Given the description of an element on the screen output the (x, y) to click on. 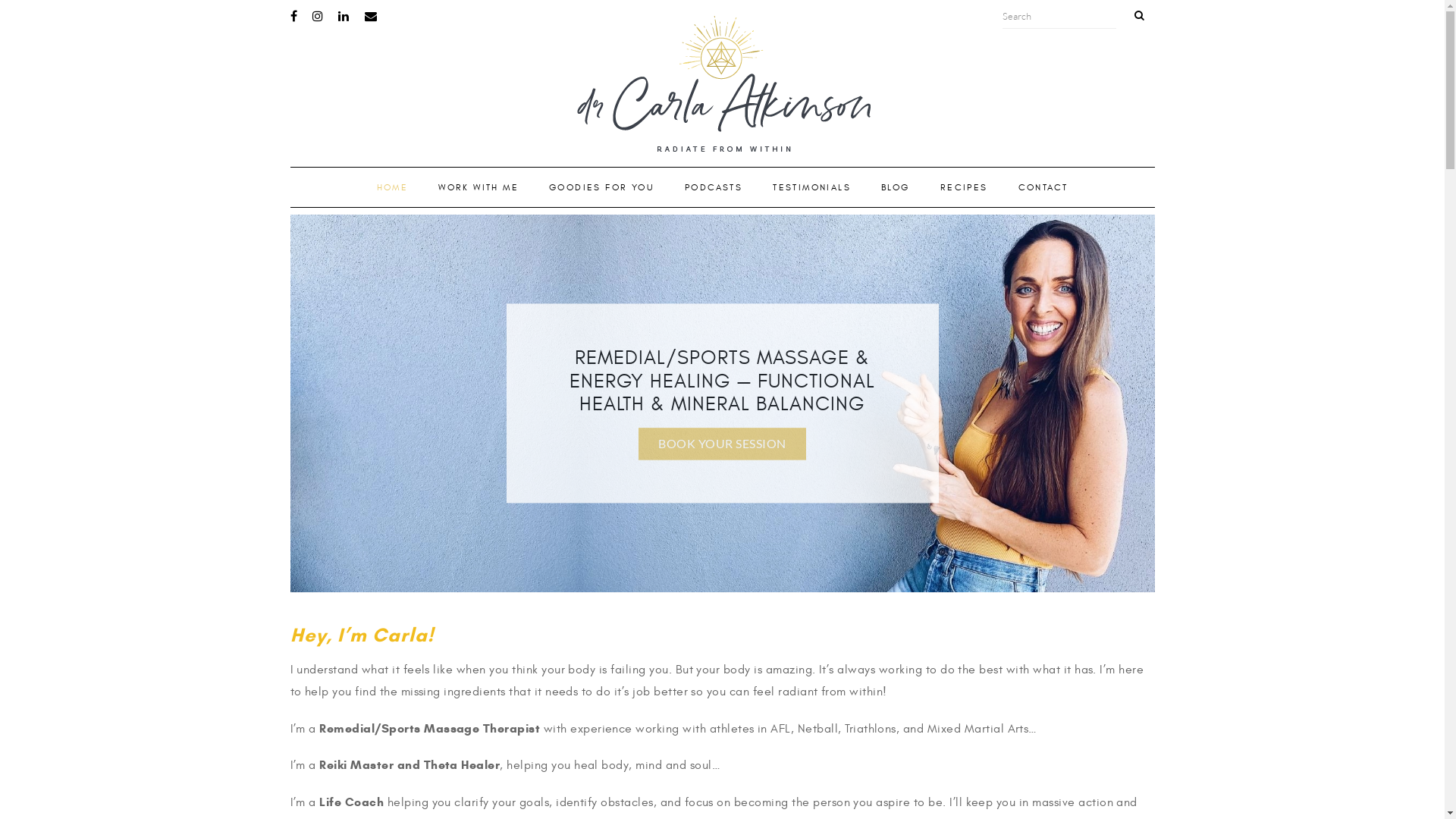
CONTACT Element type: text (1043, 187)
BOOK YOUR SESSION Element type: text (721, 444)
RECIPES Element type: text (964, 187)
PODCASTS Element type: text (713, 187)
TESTIMONIALS Element type: text (811, 187)
BLOG Element type: text (895, 187)
WORK WITH ME Element type: text (478, 187)
Search Element type: hover (1059, 15)
HOME Element type: text (392, 187)
GOODIES FOR YOU Element type: text (601, 187)
Dr Carla Atkinson, FDN-P, HTMA-P, PhD Element type: hover (721, 87)
